Given the description of an element on the screen output the (x, y) to click on. 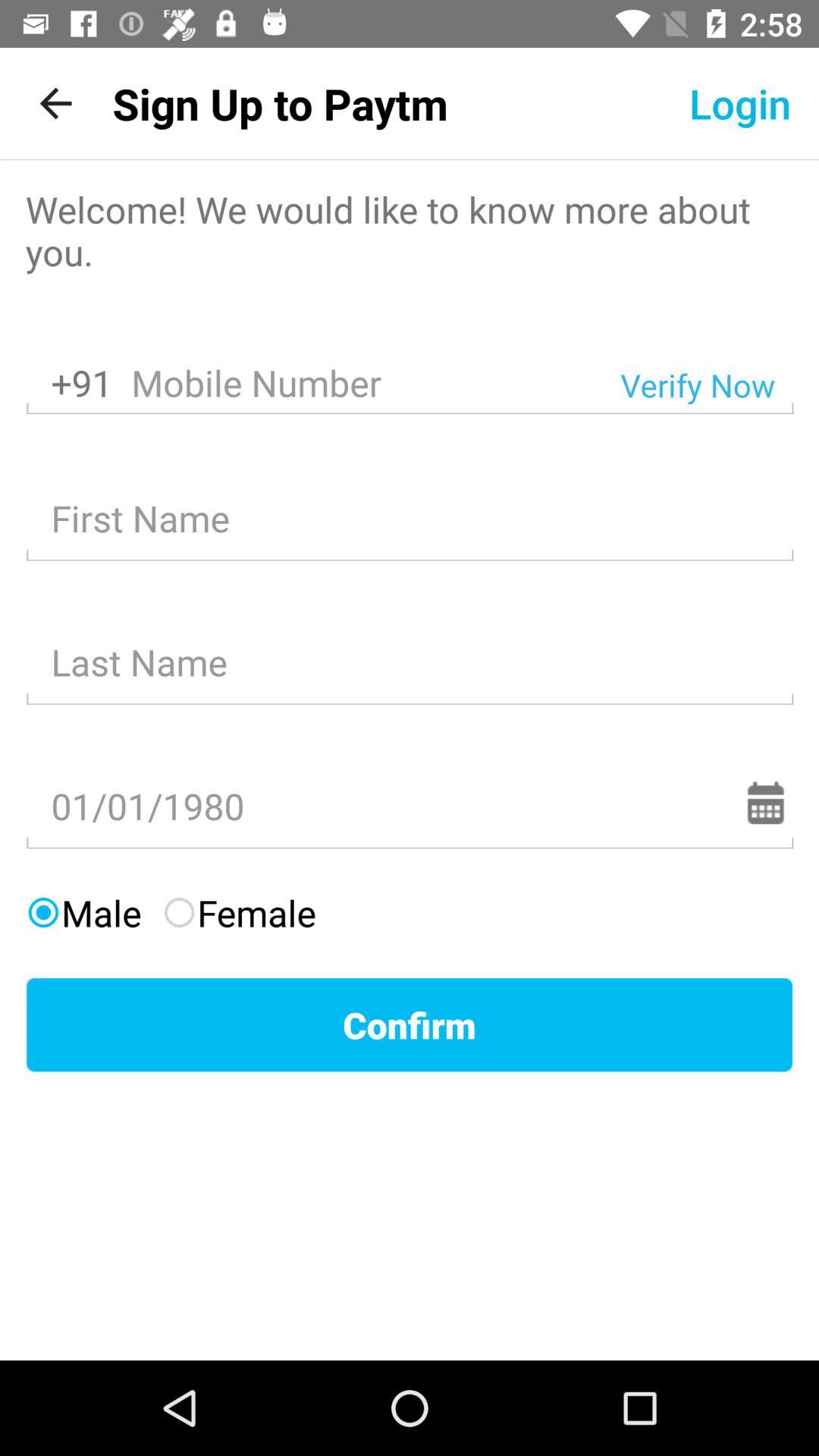
turn off app next to the login item (280, 103)
